Given the description of an element on the screen output the (x, y) to click on. 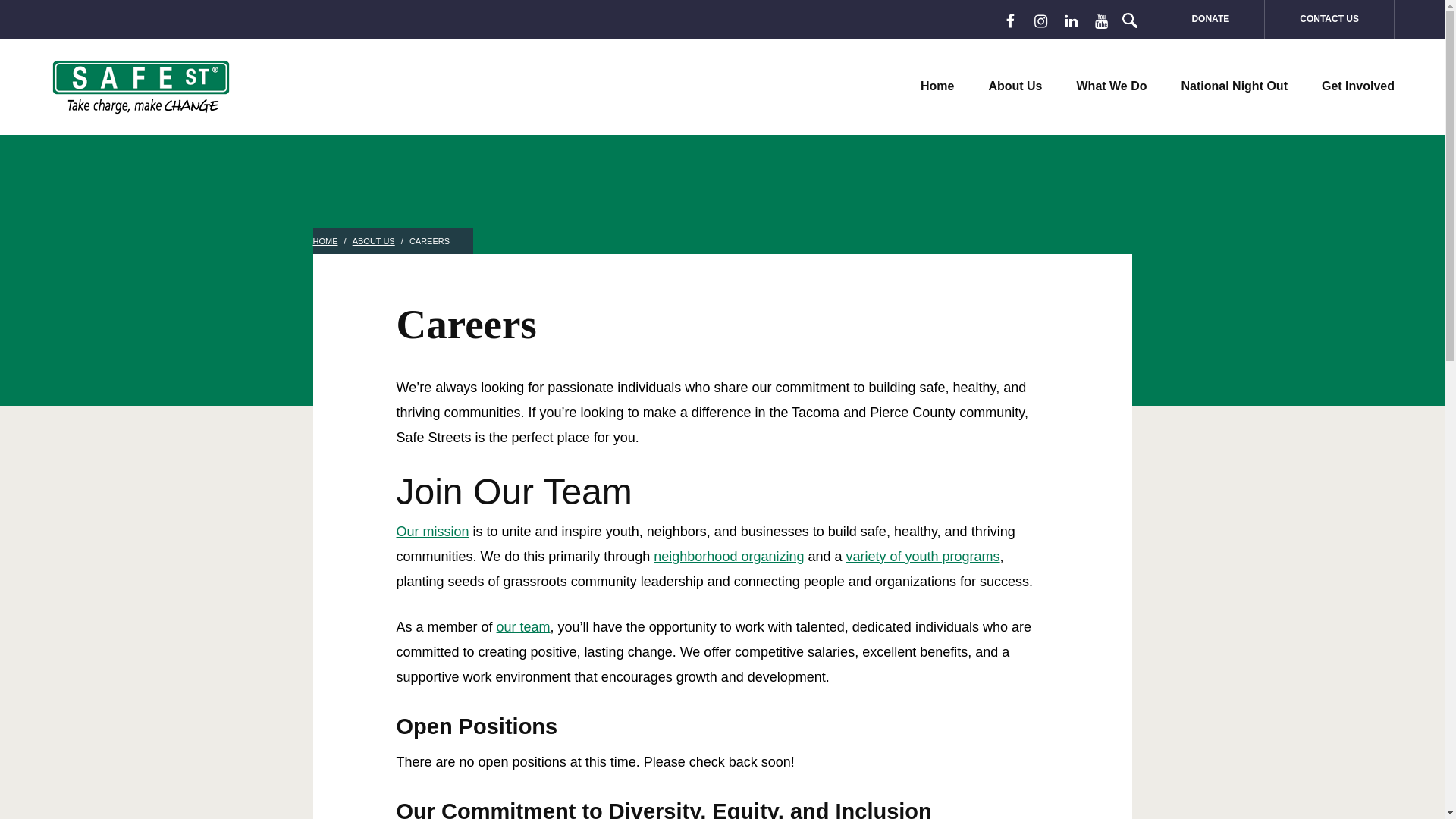
What We Do (1112, 86)
CONTACT US (1329, 19)
LinkedIn (1070, 20)
Home (936, 86)
Instagram (1039, 20)
About Us (1015, 86)
Facebook (1010, 20)
DONATE (1210, 19)
YouTube (1101, 20)
Safe Streets (140, 86)
National Night Out (1233, 86)
Get Involved (1358, 86)
